Given the description of an element on the screen output the (x, y) to click on. 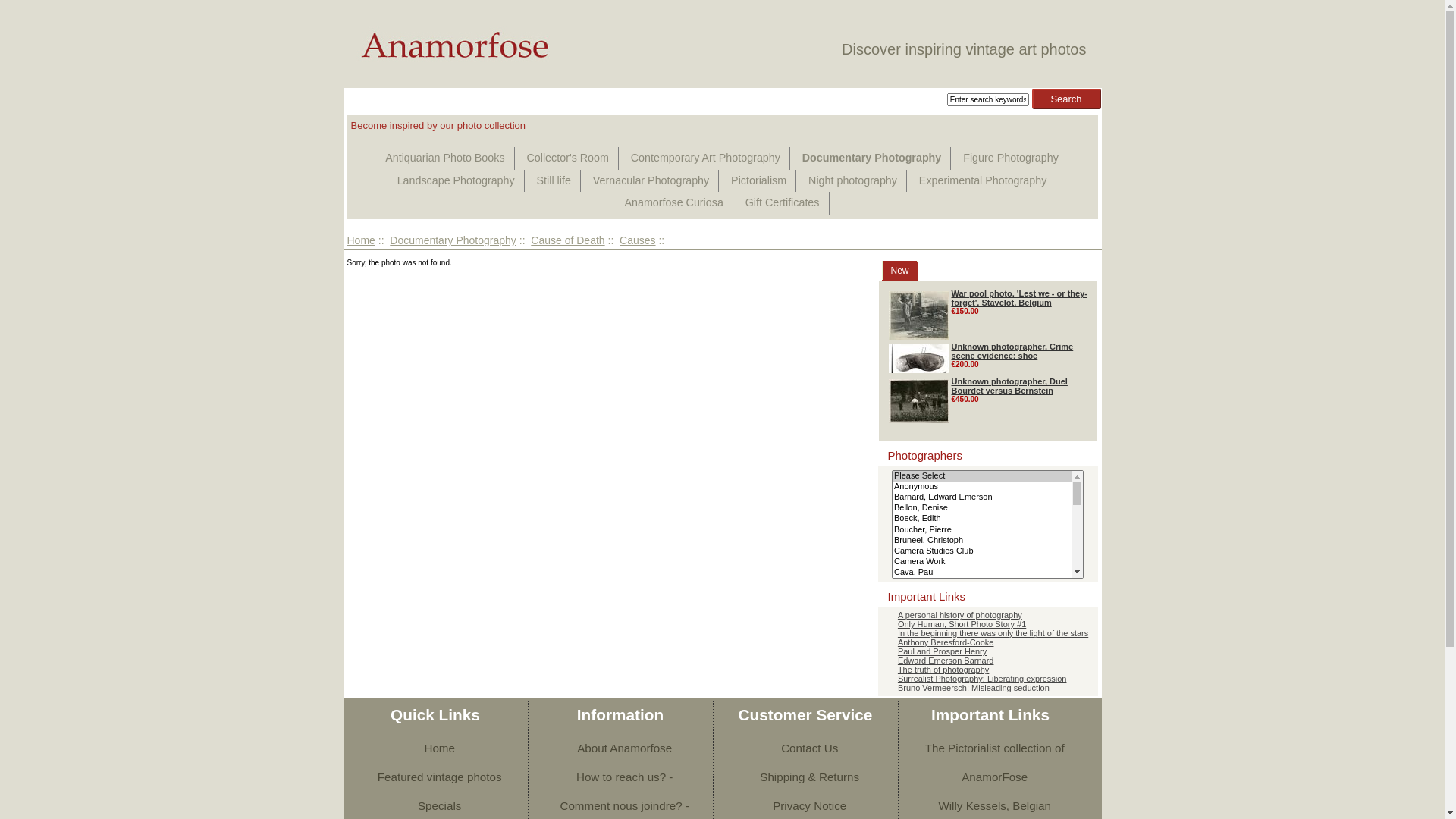
Figure Photography Element type: text (1010, 158)
The truth of photography Element type: text (987, 669)
Anthony Beresford-Cooke Element type: text (987, 641)
Pictorialism Element type: text (758, 180)
Documentary Photography Element type: text (872, 158)
Unknown photographer, Crime scene evidence: shoe Element type: text (1011, 351)
Surrealist Photography: Liberating expression Element type: text (987, 678)
Collector's Room Element type: text (567, 158)
Home Element type: text (434, 748)
Search Element type: text (1065, 98)
Log In Element type: text (388, 95)
Edward Emerson Barnard Element type: text (987, 660)
Night photography Element type: text (852, 180)
Landscape Photography Element type: text (456, 180)
Still life Element type: text (553, 180)
About Anamorfose Element type: text (619, 748)
Bruno Vermeersch: Misleading seduction Element type: text (987, 687)
Contemporary Art Photography Element type: text (705, 158)
Unknown photographer, Duel Bourdet versus Bernstein Element type: text (1008, 385)
 Unknown photographer, Duel Bourdet versus Bernstein  Element type: hover (918, 401)
Paul and Prosper Henry Element type: text (987, 650)
Contact Us Element type: text (804, 748)
Antiquarian Photo Books Element type: text (444, 158)
In the beginning there was only the light of the stars Element type: text (987, 632)
 Unknown photographer, Crime scene evidence: shoe  Element type: hover (918, 358)
The Pictorialist collection of AnamorFose Element type: text (989, 762)
A personal history of photography Element type: text (987, 614)
Home Element type: text (356, 95)
Gift Certificates Element type: text (782, 202)
Only Human, Short Photo Story #1 Element type: text (987, 623)
Home Element type: text (361, 240)
Featured vintage photos Element type: text (434, 776)
Documentary Photography Element type: text (452, 240)
Shipping & Returns Element type: text (804, 776)
Experimental Photography Element type: text (982, 180)
Anamorfose Curiosa Element type: text (673, 202)
Causes Element type: text (637, 240)
Cause of Death Element type: text (567, 240)
New Element type: text (899, 270)
Vernacular Photography Element type: text (651, 180)
